Given the description of an element on the screen output the (x, y) to click on. 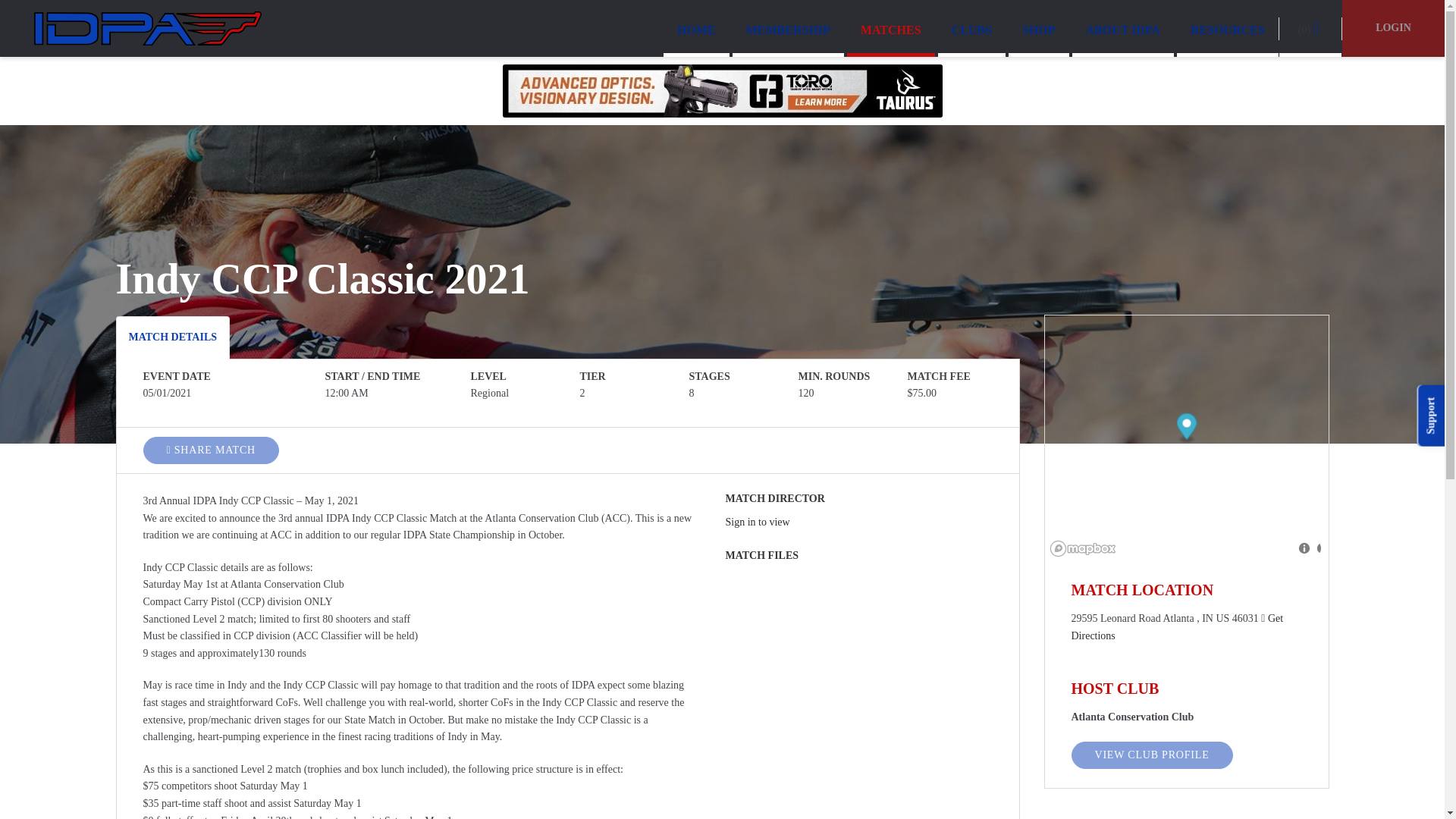
MATCHES (890, 26)
SHOP (1038, 26)
LOGIN (1393, 28)
MEMBERSHIP (788, 26)
LOGIN (1393, 26)
HOME (696, 26)
Toggle attribution (1307, 547)
CLUBS (971, 26)
ABOUT IDPA (1122, 26)
RESOURCES (1227, 26)
